Given the description of an element on the screen output the (x, y) to click on. 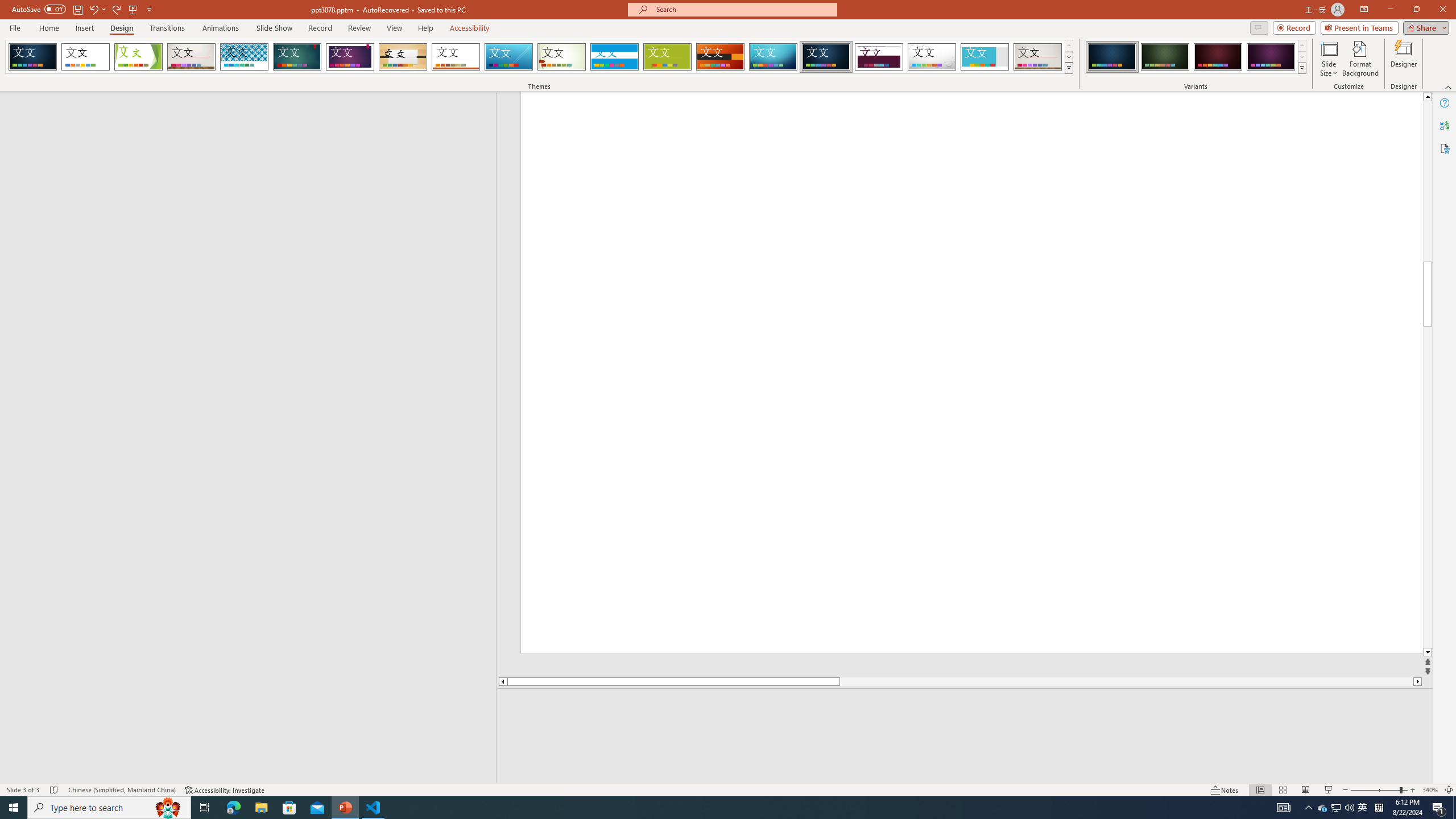
Variants (1301, 67)
Basis (667, 56)
Gallery (1037, 56)
Page up (1428, 156)
Office Theme (85, 56)
Banded (614, 56)
